Given the description of an element on the screen output the (x, y) to click on. 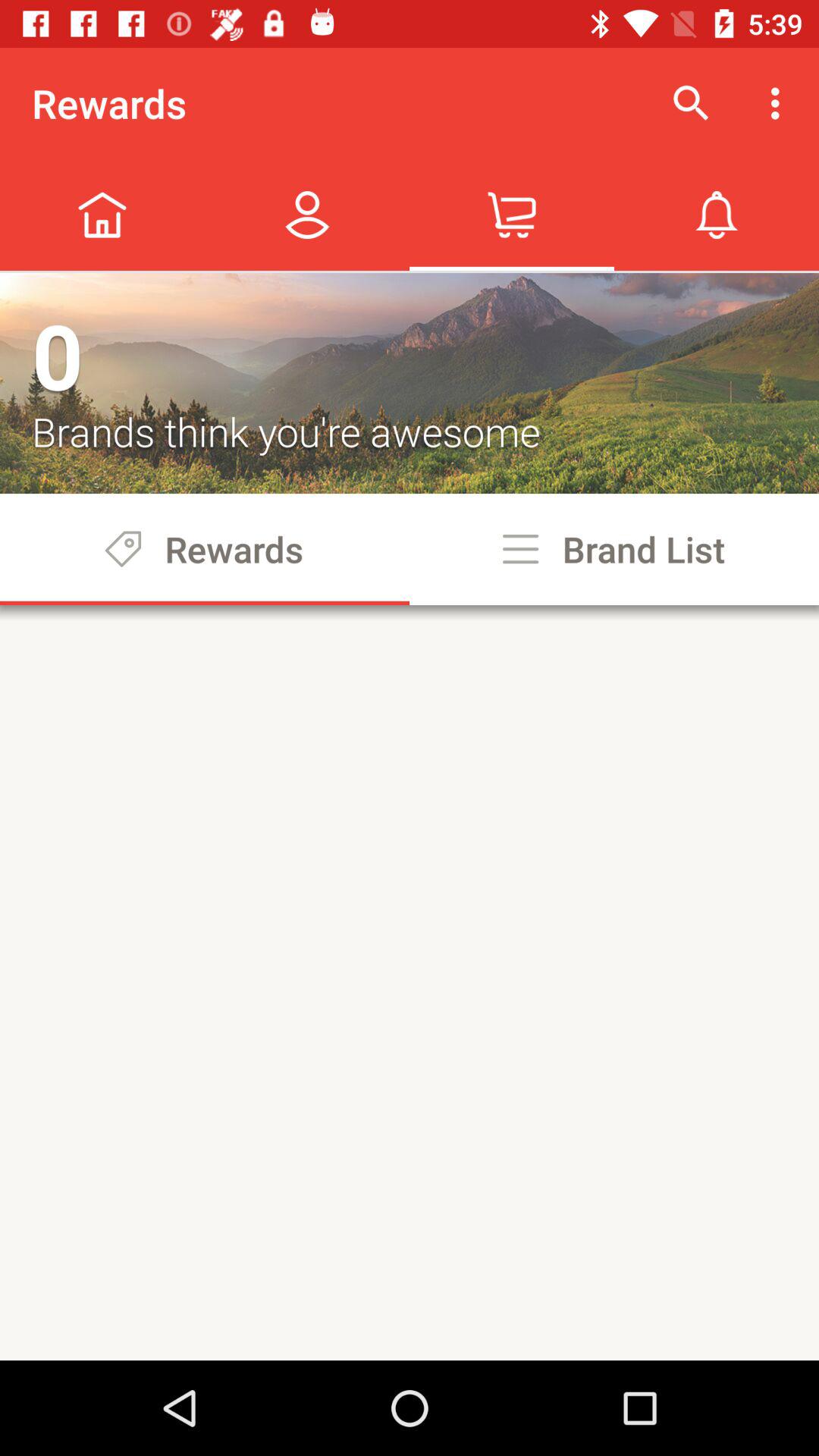
open icon to the right of rewards icon (691, 103)
